Given the description of an element on the screen output the (x, y) to click on. 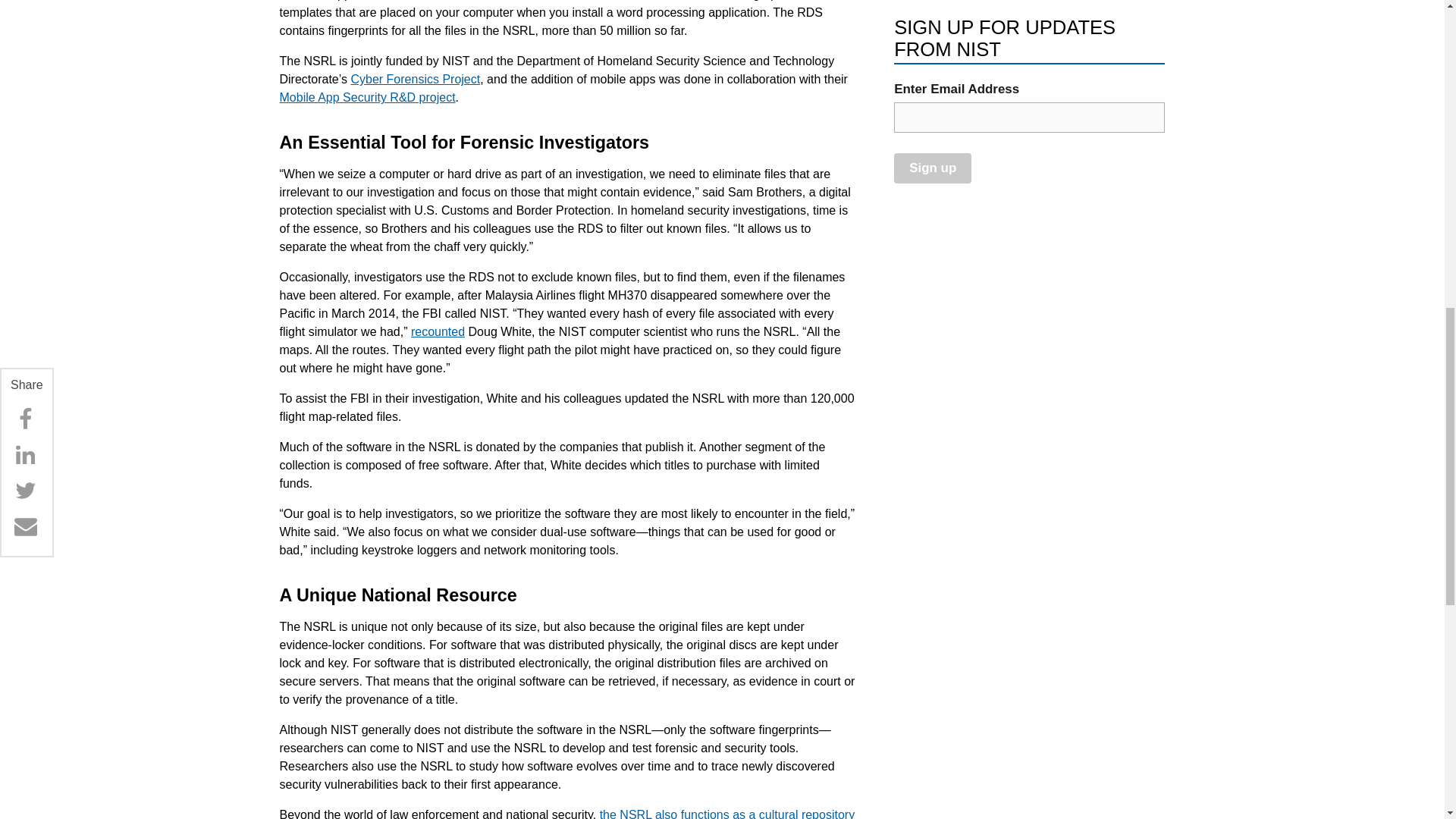
Cyber Forensics Project (415, 78)
email (1028, 117)
Sign up (932, 167)
recounted (437, 331)
Sign up (932, 167)
